Given the description of an element on the screen output the (x, y) to click on. 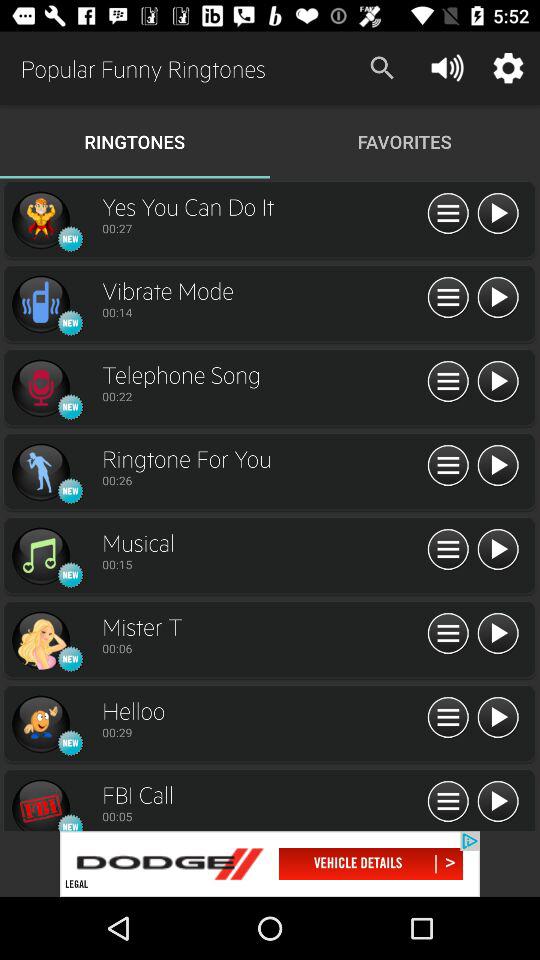
select the helloo ringtone (40, 724)
